Given the description of an element on the screen output the (x, y) to click on. 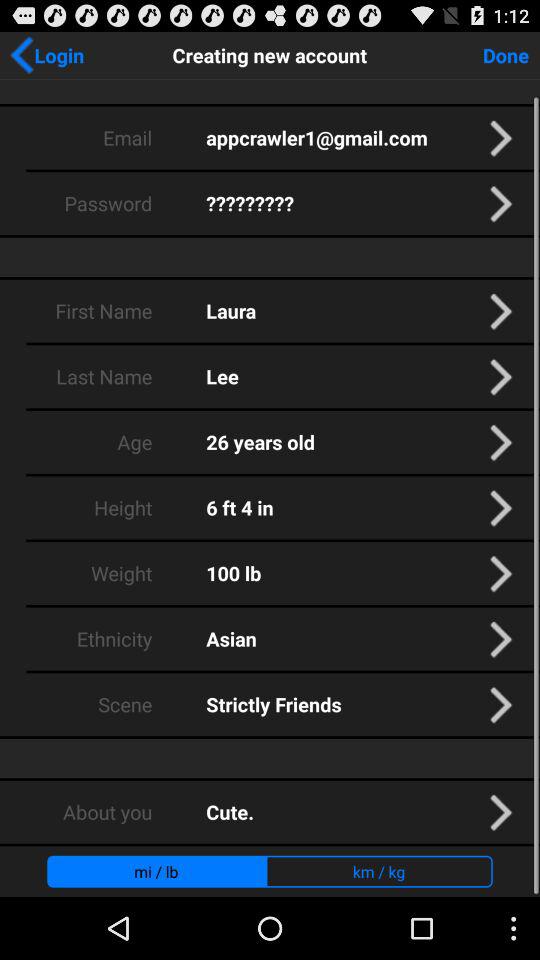
select the app to the left of the creating new account app (46, 55)
